Given the description of an element on the screen output the (x, y) to click on. 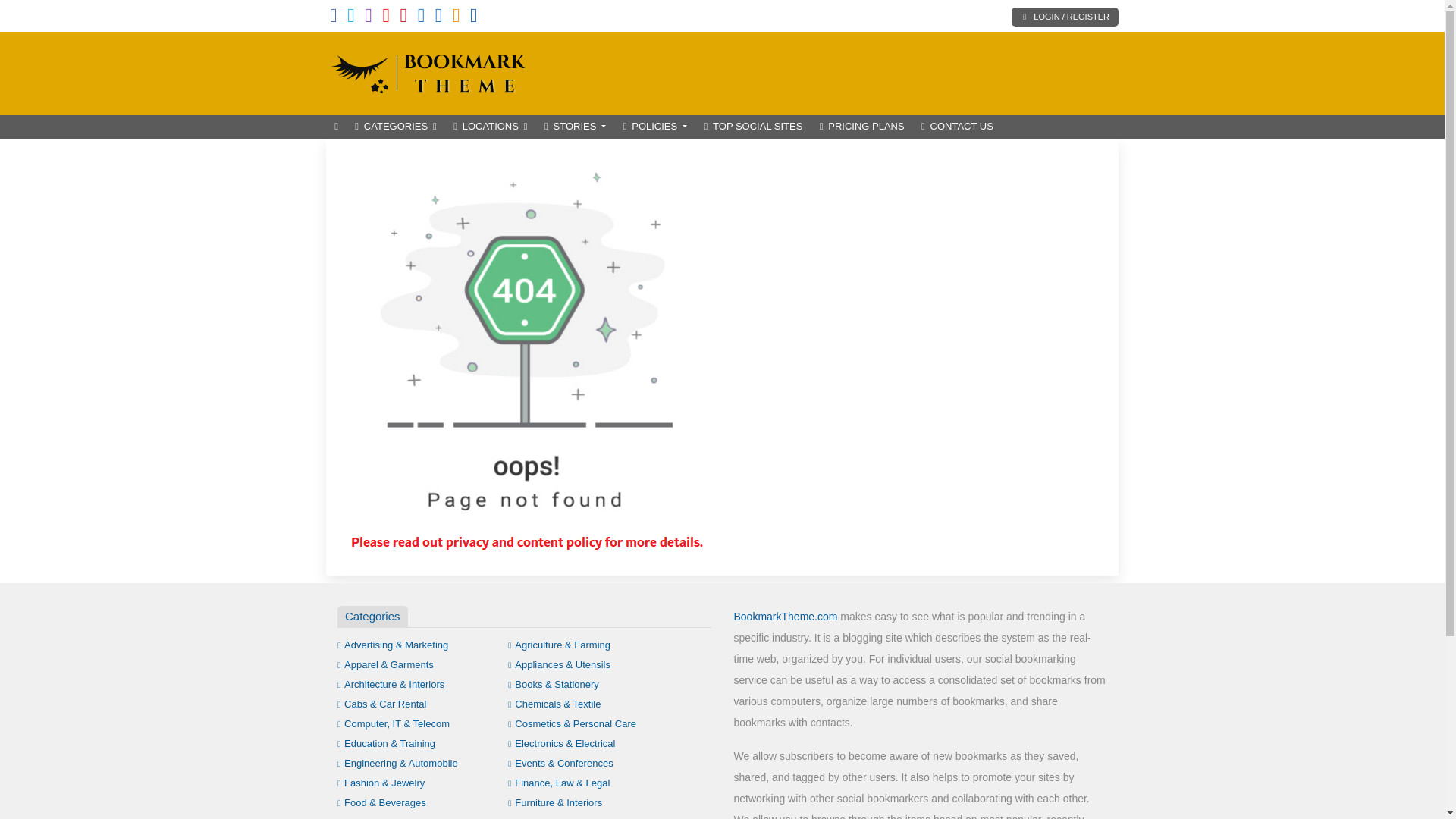
CATEGORIES (395, 126)
Potential Social Bookmarking System for Business Directory (428, 71)
